Given the description of an element on the screen output the (x, y) to click on. 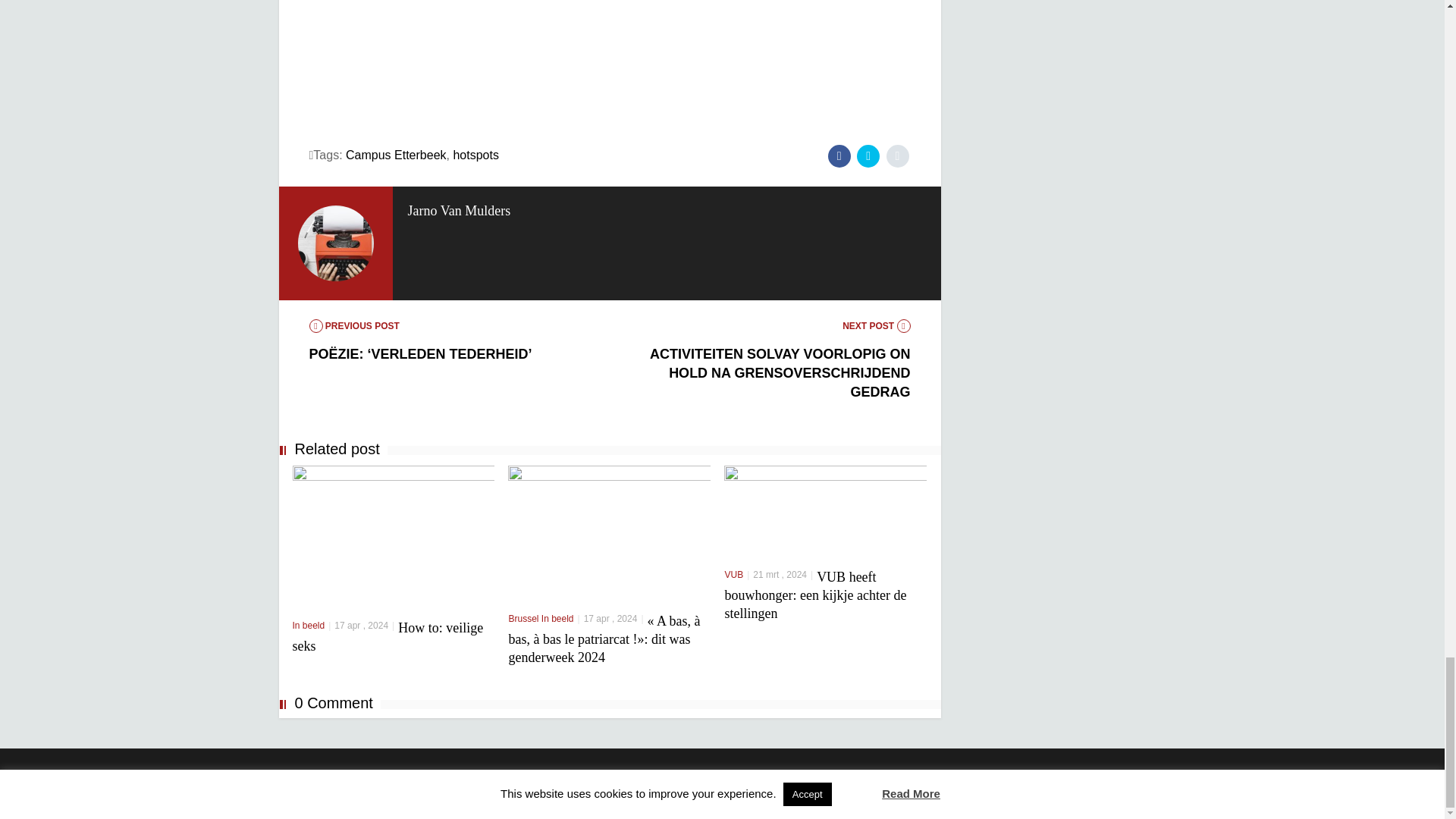
VUB heeft bouwhonger: een kijkje achter de stellingen (824, 510)
VUB heeft bouwhonger: een kijkje achter de stellingen (814, 594)
